Given the description of an element on the screen output the (x, y) to click on. 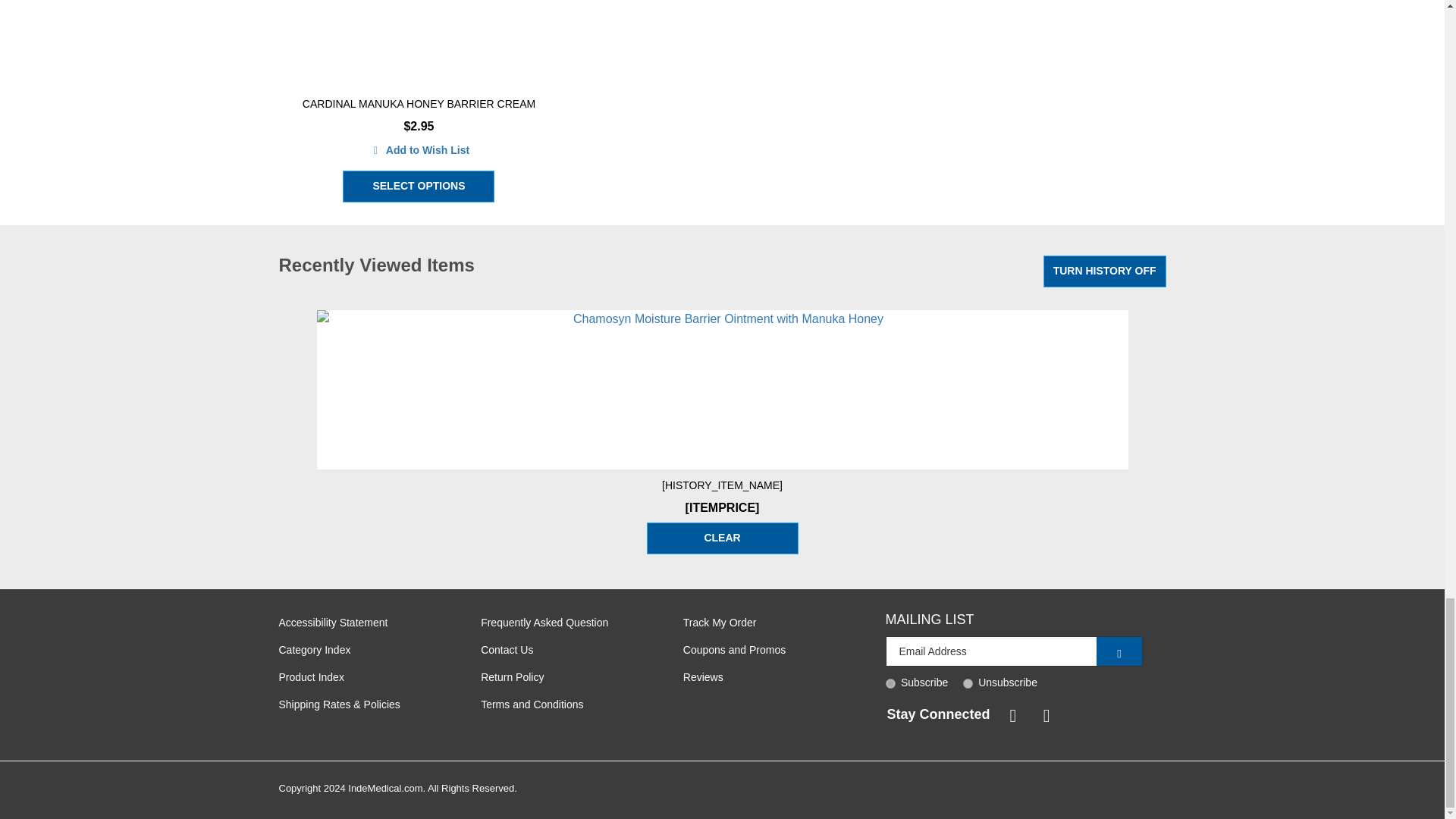
1 (890, 683)
Like Us on Facebook (1010, 713)
Follow Us on Instagram (1042, 713)
0 (967, 683)
